Given the description of an element on the screen output the (x, y) to click on. 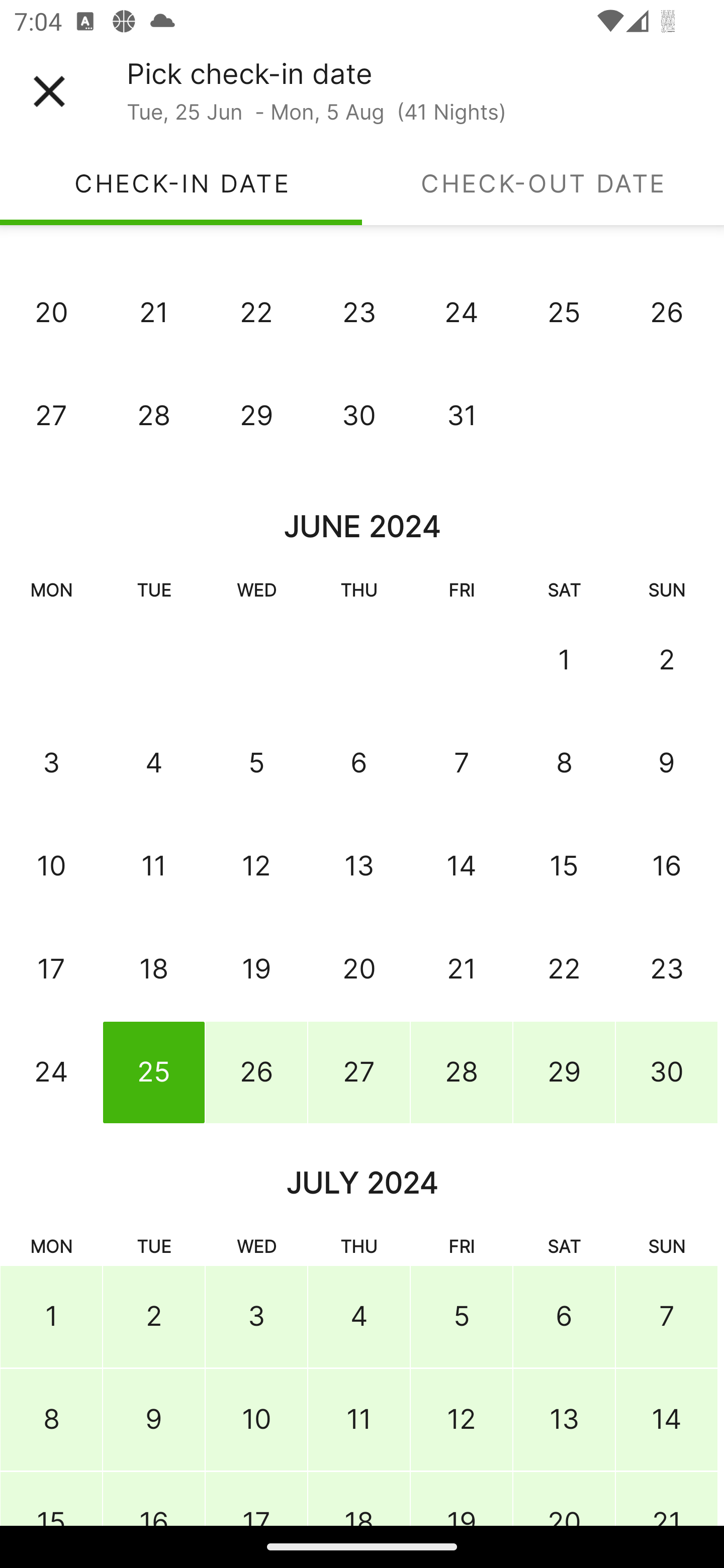
Check-out Date CHECK-OUT DATE (543, 183)
